Given the description of an element on the screen output the (x, y) to click on. 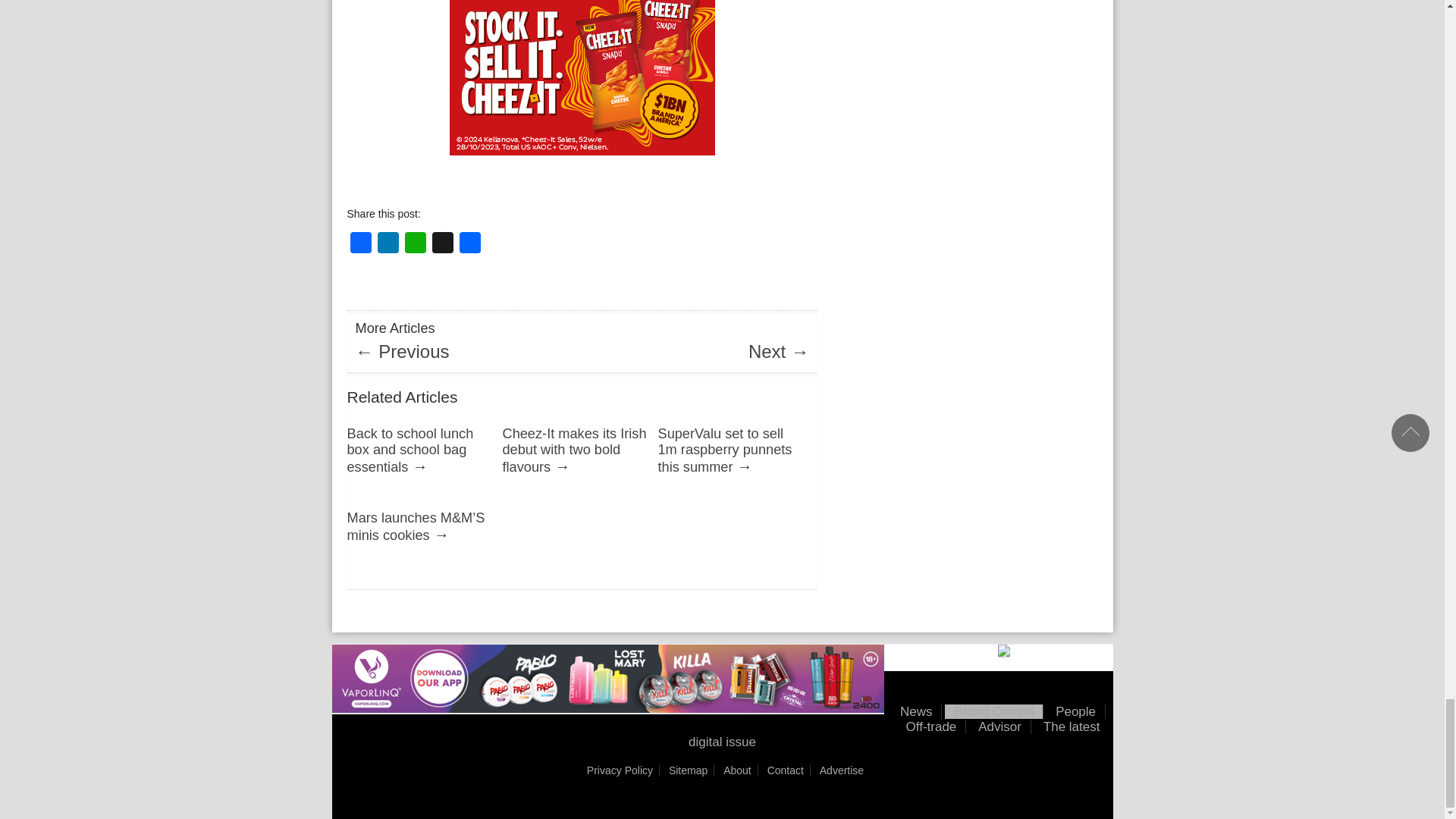
Back to school lunch box and school bag essentials (410, 450)
Share (470, 243)
Cheez-It makes its Irish debut with two bold flavours (574, 450)
LinkedIn (387, 243)
WhatsApp (415, 243)
Facebook (360, 243)
X (443, 243)
SuperValu set to sell 1m raspberry punnets this summer (725, 450)
